Given the description of an element on the screen output the (x, y) to click on. 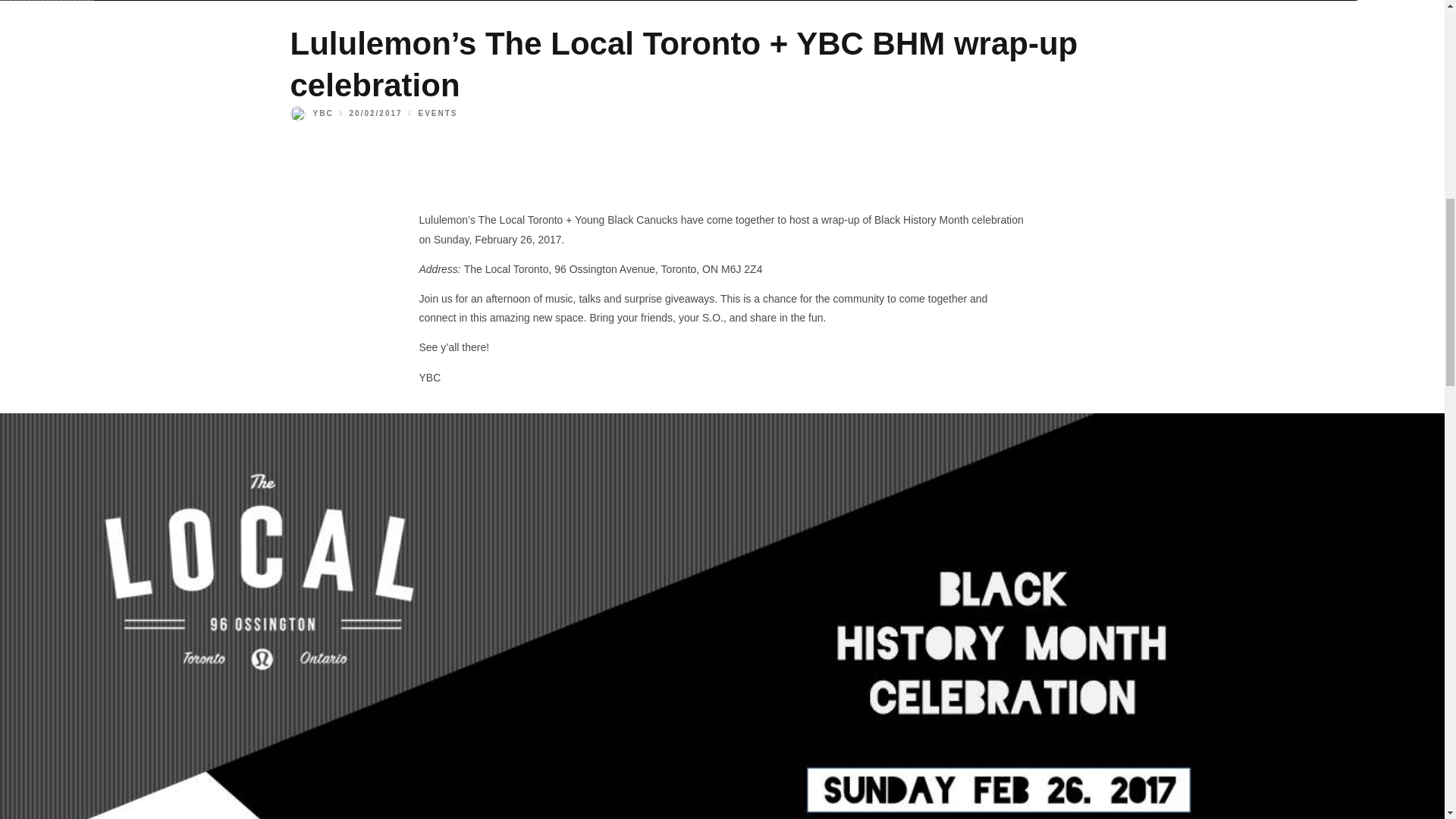
View all posts in Events (438, 112)
EVENTS (438, 112)
YBC (311, 112)
